Given the description of an element on the screen output the (x, y) to click on. 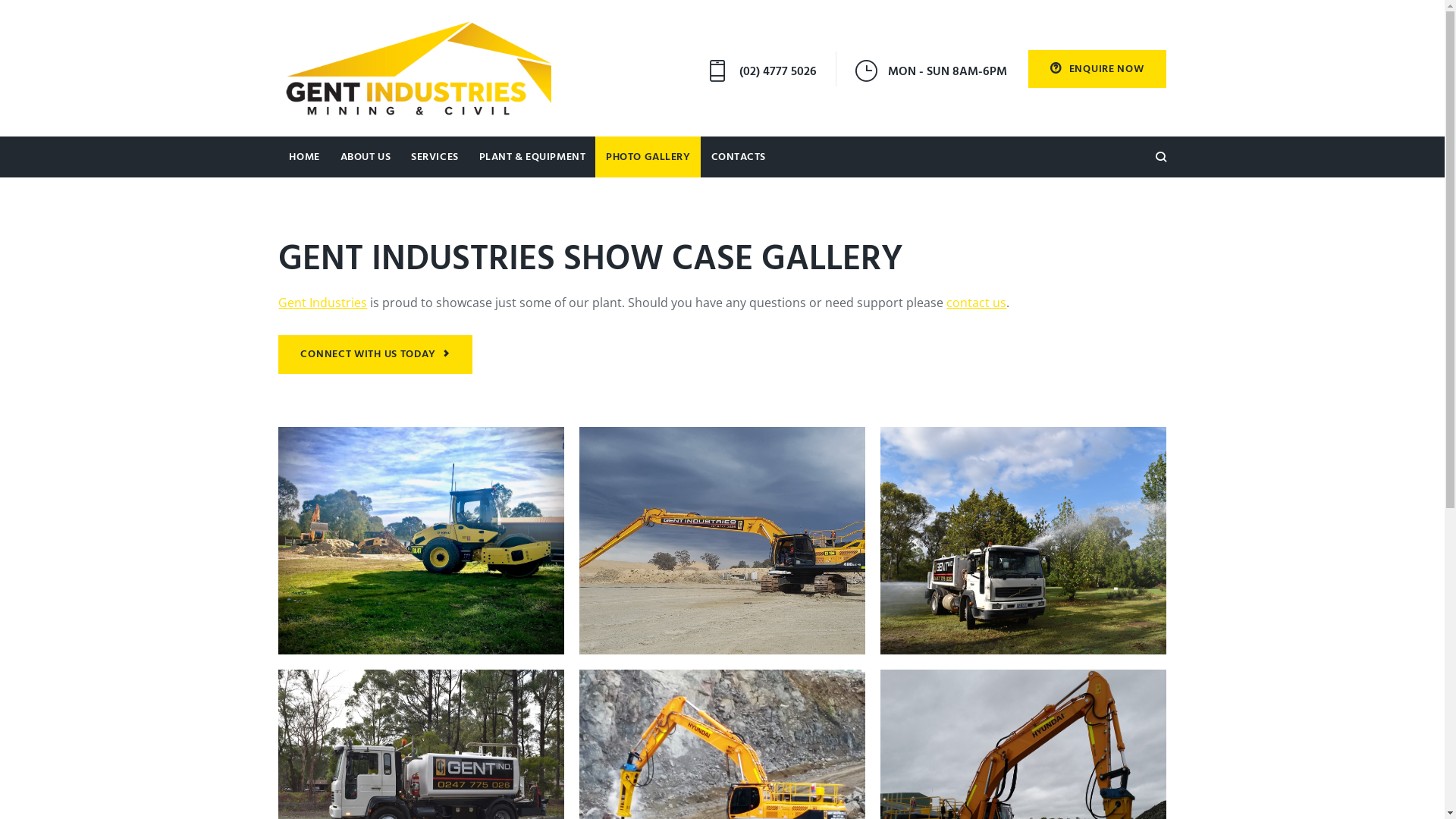
CONTACTS Element type: text (737, 156)
CONNECT WITH US TODAY Element type: text (374, 354)
contact us Element type: text (976, 302)
SERVICES Element type: text (433, 156)
PLANT & EQUIPMENT Element type: text (532, 156)
ABOUT US Element type: text (364, 156)
(02) 4777 5026 Element type: text (777, 71)
HOME Element type: text (303, 156)
ENQUIRE NOW Element type: text (1096, 68)
Gent Industries Element type: text (322, 302)
PHOTO GALLERY Element type: text (647, 156)
